Given the description of an element on the screen output the (x, y) to click on. 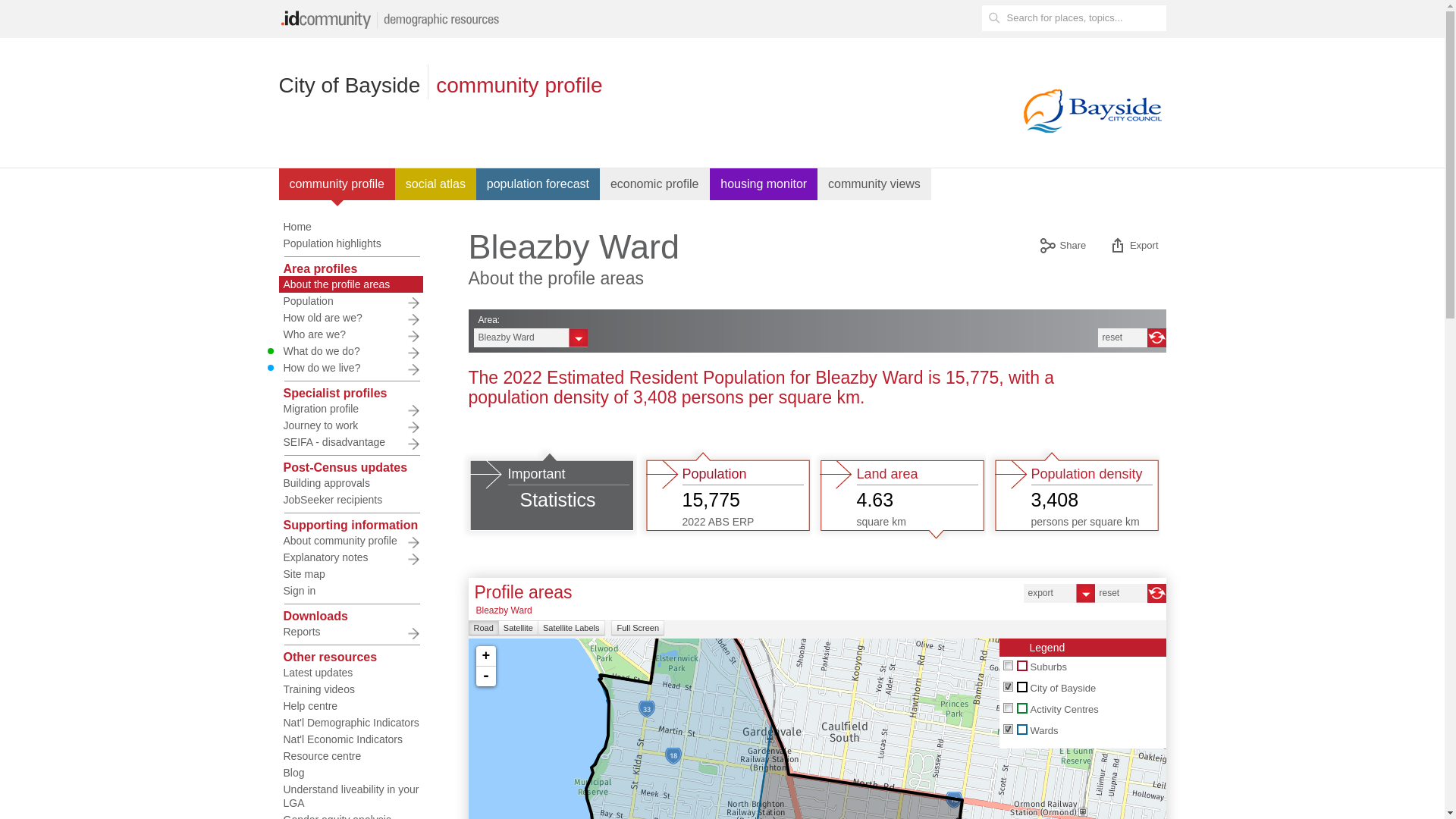
Journey to work
  Element type: text (351, 425)
economic profile Element type: text (654, 184)
Sign in Element type: text (351, 590)
Export Element type: text (1133, 247)
Home Element type: text (351, 226)
How old are we?
  Element type: text (351, 317)
reset Element type: text (1132, 337)
export Element type: text (1059, 592)
social atlas Element type: text (435, 184)
Resource centre Element type: text (351, 755)
Building approvals Element type: text (351, 482)
JobSeeker recipients Element type: text (351, 499)
Population highlights Element type: text (351, 243)
City of Bayside website Element type: hover (1090, 109)
Population
  Element type: text (351, 300)
- Element type: text (485, 676)
What do we do?
  Element type: text (351, 350)
Site map Element type: text (351, 573)
Full Screen Element type: text (637, 627)
community views Element type: text (874, 184)
Training videos Element type: text (351, 688)
Satellite Labels Element type: text (571, 627)
Nat'l Economic Indicators Element type: text (351, 739)
SEIFA - disadvantage
  Element type: text (351, 441)
Satellite Element type: text (518, 627)
Blog Element type: text (351, 772)
housing monitor Element type: text (763, 184)
Who are we?
  Element type: text (351, 334)
Migration profile
  Element type: text (351, 408)
population forecast Element type: text (537, 184)
Reports
  Element type: text (351, 631)
About community profile
  Element type: text (351, 540)
idc-logo Element type: text (392, 18)
+ Element type: text (485, 656)
Understand liveability in your LGA Element type: text (351, 796)
Explanatory notes
  Element type: text (351, 557)
How do we live?
  Element type: text (351, 367)
About the profile areas Element type: text (351, 284)
Bleazby Ward Element type: text (529, 337)
Road Element type: text (483, 627)
Share Element type: text (1062, 247)
community profile Element type: text (337, 184)
Help centre Element type: text (351, 705)
Latest updates Element type: text (351, 672)
Nat'l Demographic Indicators Element type: text (351, 722)
reset Element type: text (1130, 592)
